Given the description of an element on the screen output the (x, y) to click on. 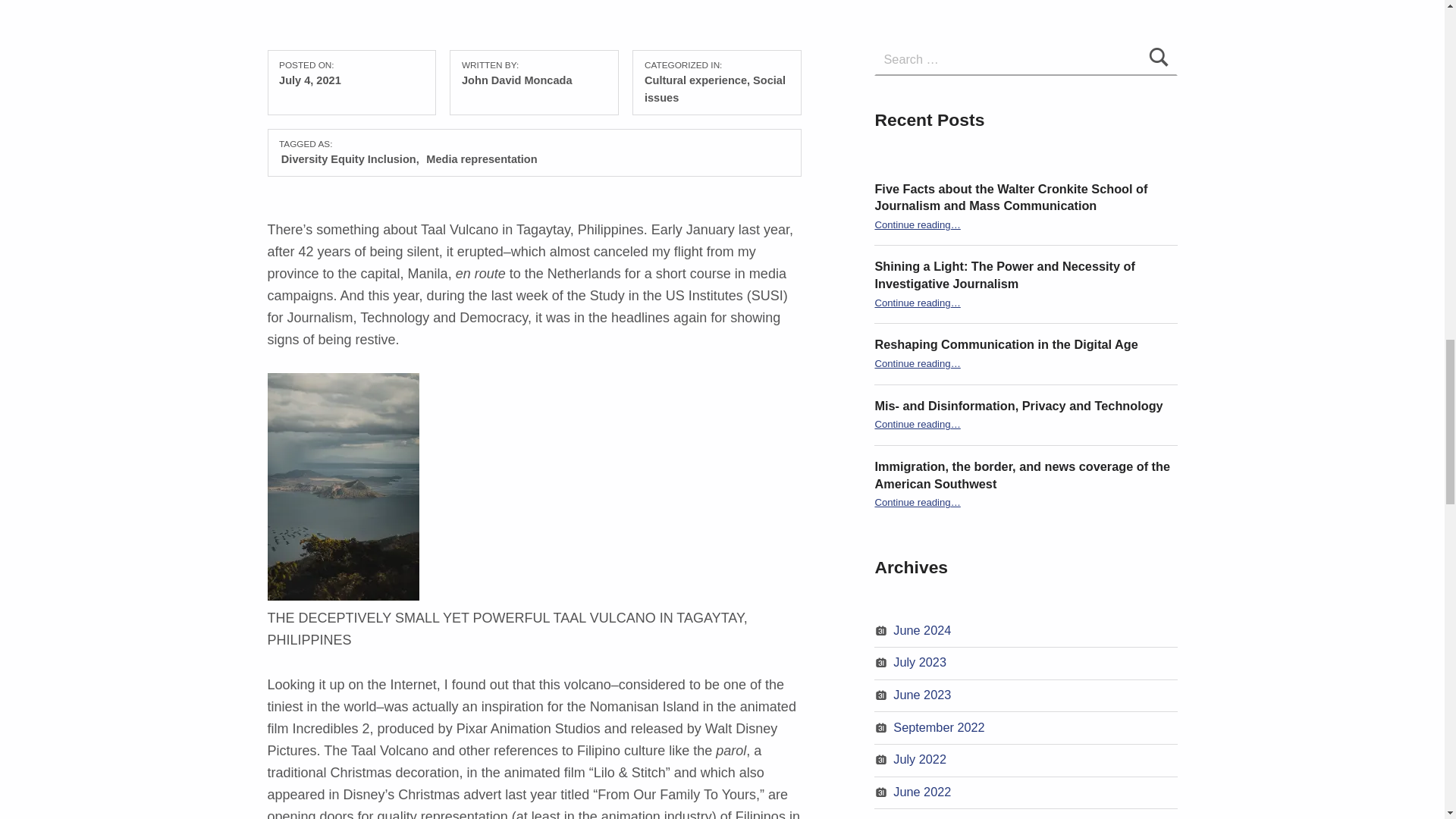
July 4, 2021 (309, 80)
June 2024 (921, 630)
John David Moncada (516, 80)
July 2022 (919, 758)
June 2022 (921, 791)
July 2023 (919, 662)
April 2022 (921, 818)
June 2023 (921, 694)
Cultural experience (695, 80)
Mis- and Disinformation, Privacy and Technology (1018, 405)
September 2022 (938, 726)
Social issues (715, 89)
Search (1158, 59)
